Given the description of an element on the screen output the (x, y) to click on. 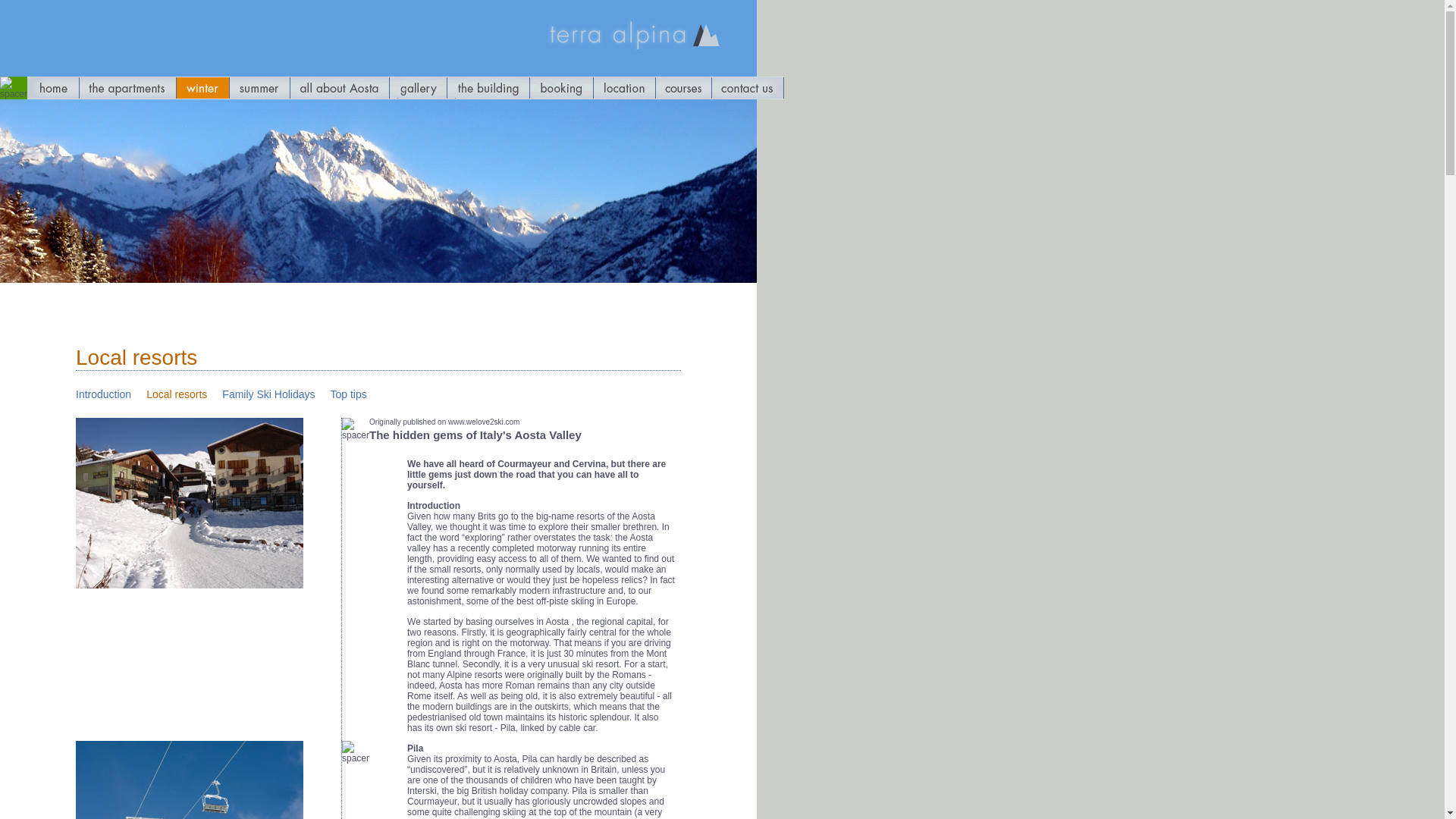
Family Ski Holidays (268, 394)
Top tips (348, 394)
Introduction (103, 394)
Local resorts (176, 394)
